Given the description of an element on the screen output the (x, y) to click on. 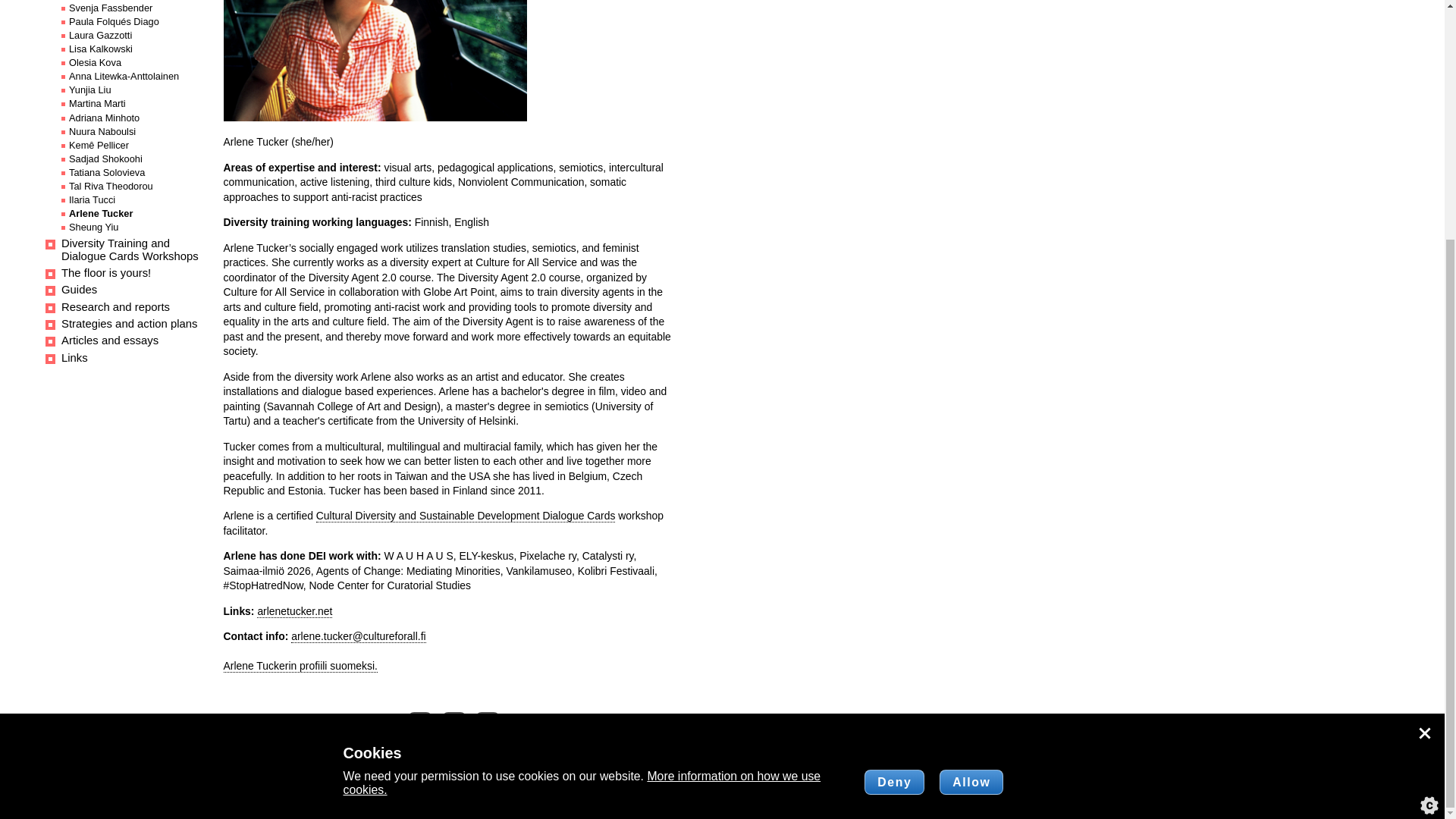
Allow (971, 453)
Deny (894, 453)
